Given the description of an element on the screen output the (x, y) to click on. 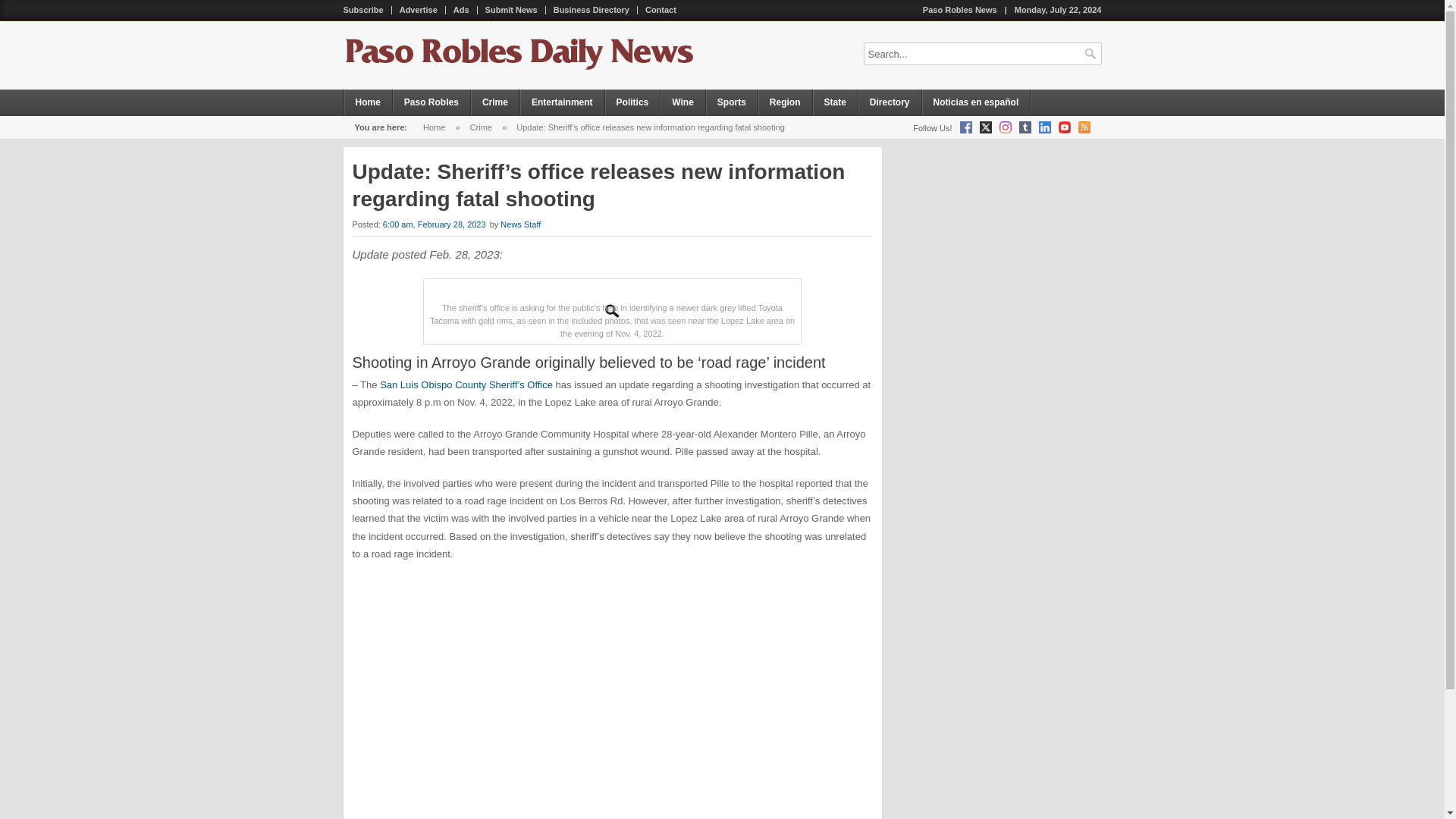
Follow Us on X (985, 127)
Paso Robles Business Directory (591, 9)
Politics (633, 102)
Advertise (418, 9)
6:00 am (434, 224)
Ads (461, 9)
Paso Robles (431, 102)
Directory (890, 102)
Region (785, 102)
Subscribe (362, 9)
Submit News (511, 9)
State (835, 102)
Home (368, 102)
Crime (481, 126)
Follow Us on Linked In (1045, 127)
